Given the description of an element on the screen output the (x, y) to click on. 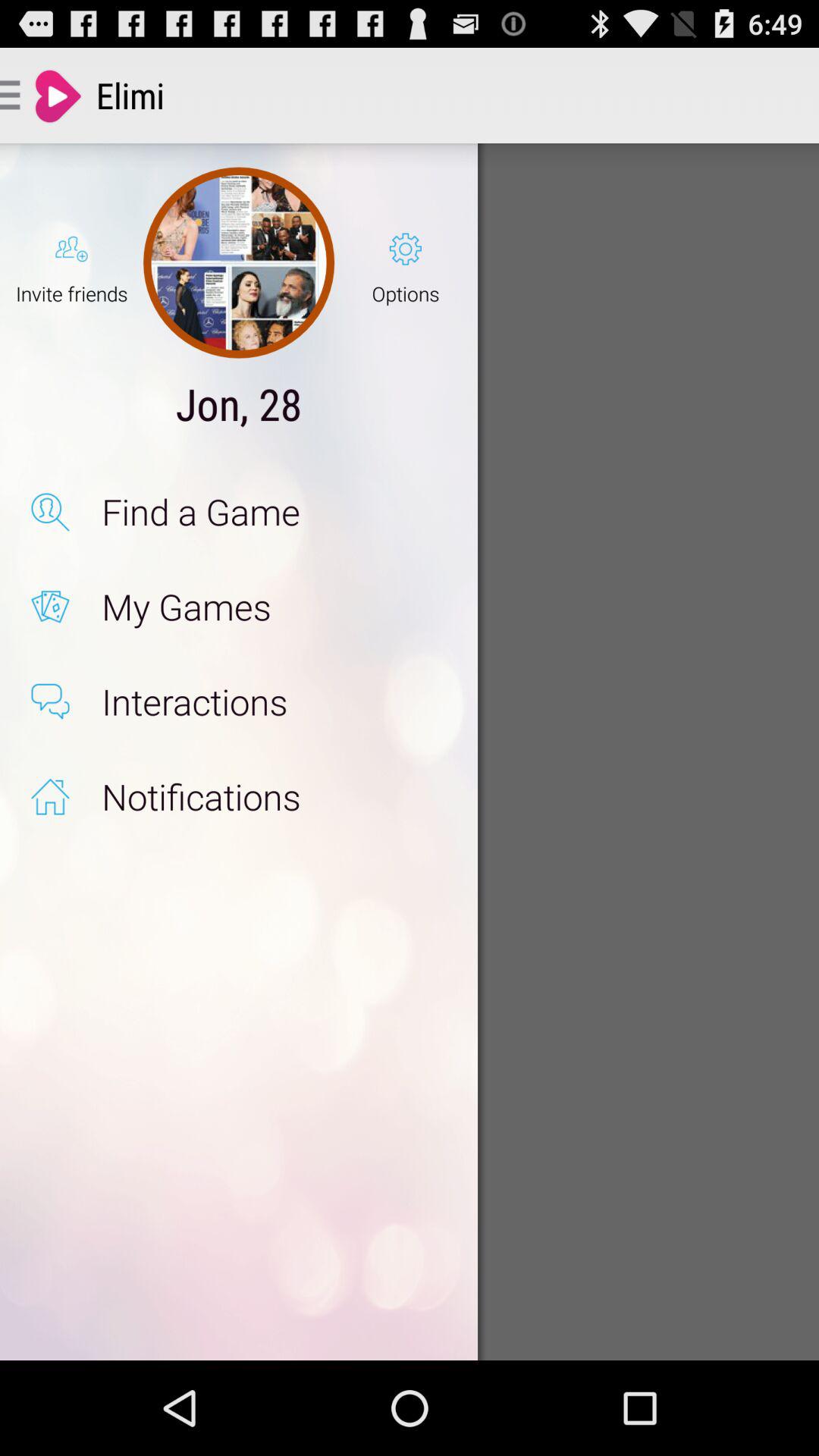
scroll to interactions (273, 701)
